Given the description of an element on the screen output the (x, y) to click on. 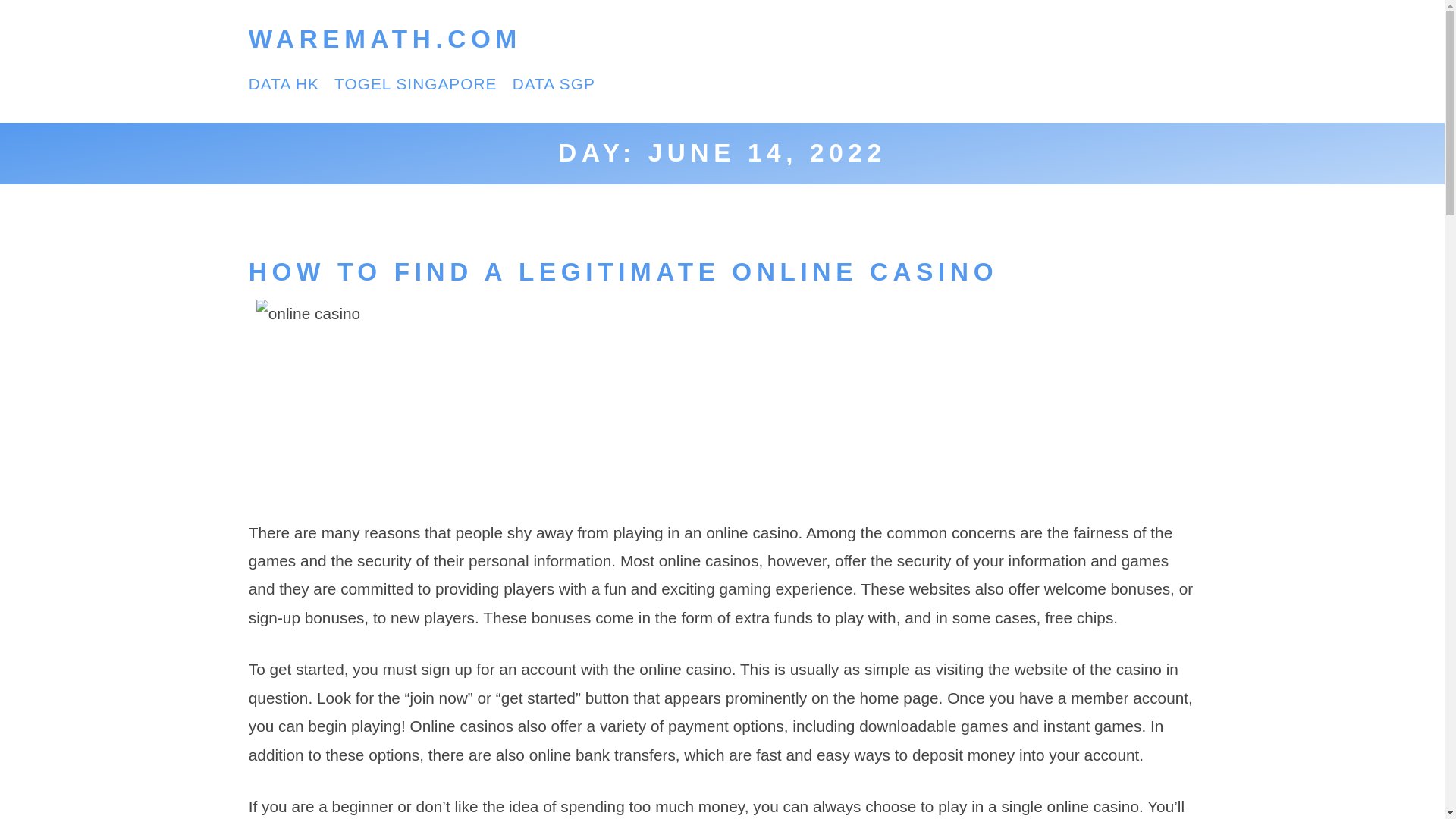
WAREMATH.COM (384, 39)
DATA HK (283, 83)
DATA SGP (553, 83)
HOW TO FIND A LEGITIMATE ONLINE CASINO (622, 271)
TOGEL SINGAPORE (415, 83)
